Given the description of an element on the screen output the (x, y) to click on. 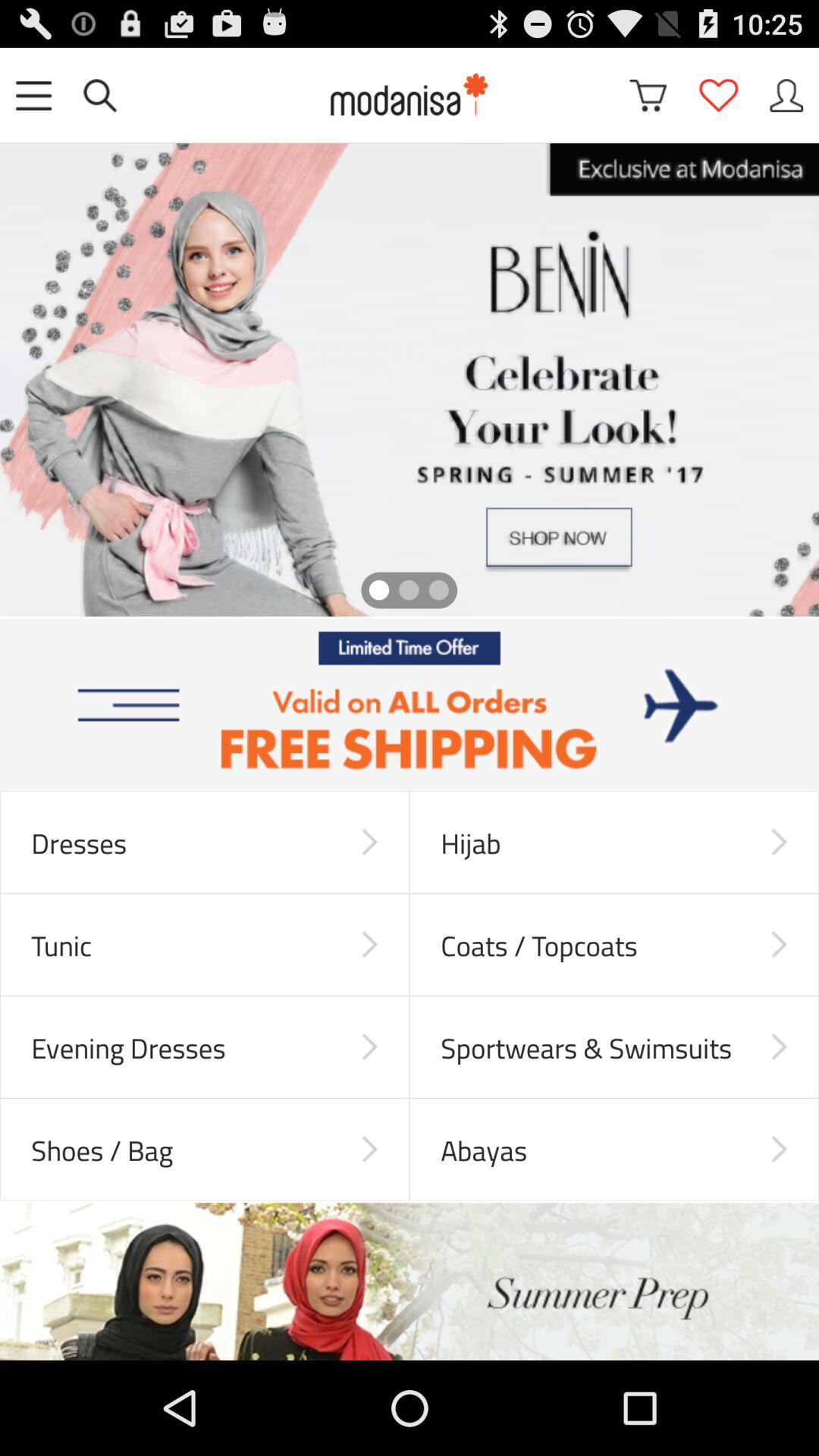
profile info 's (786, 95)
